Given the description of an element on the screen output the (x, y) to click on. 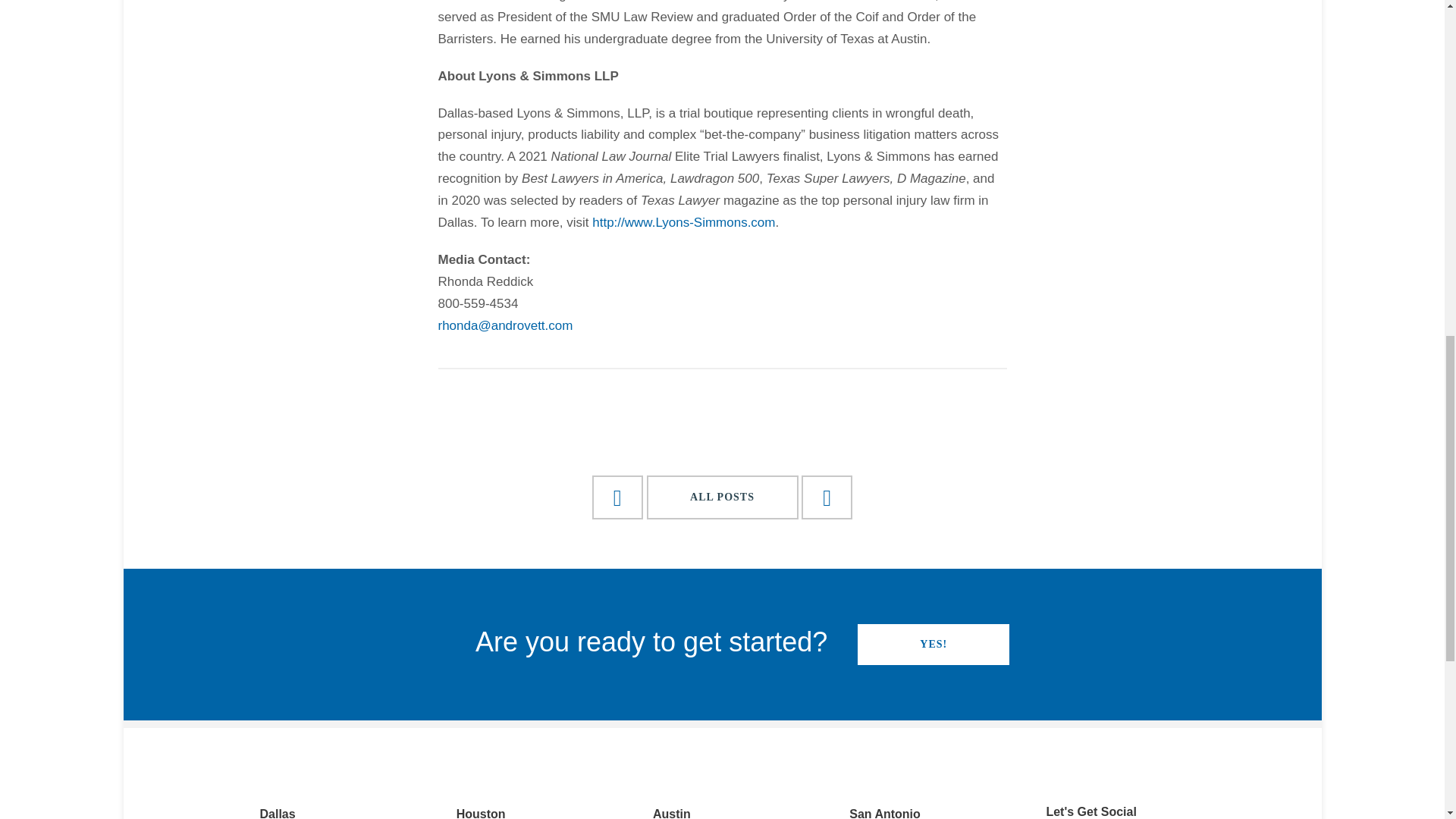
YES! (933, 643)
Austin (671, 812)
ALL POSTS (721, 496)
